Given the description of an element on the screen output the (x, y) to click on. 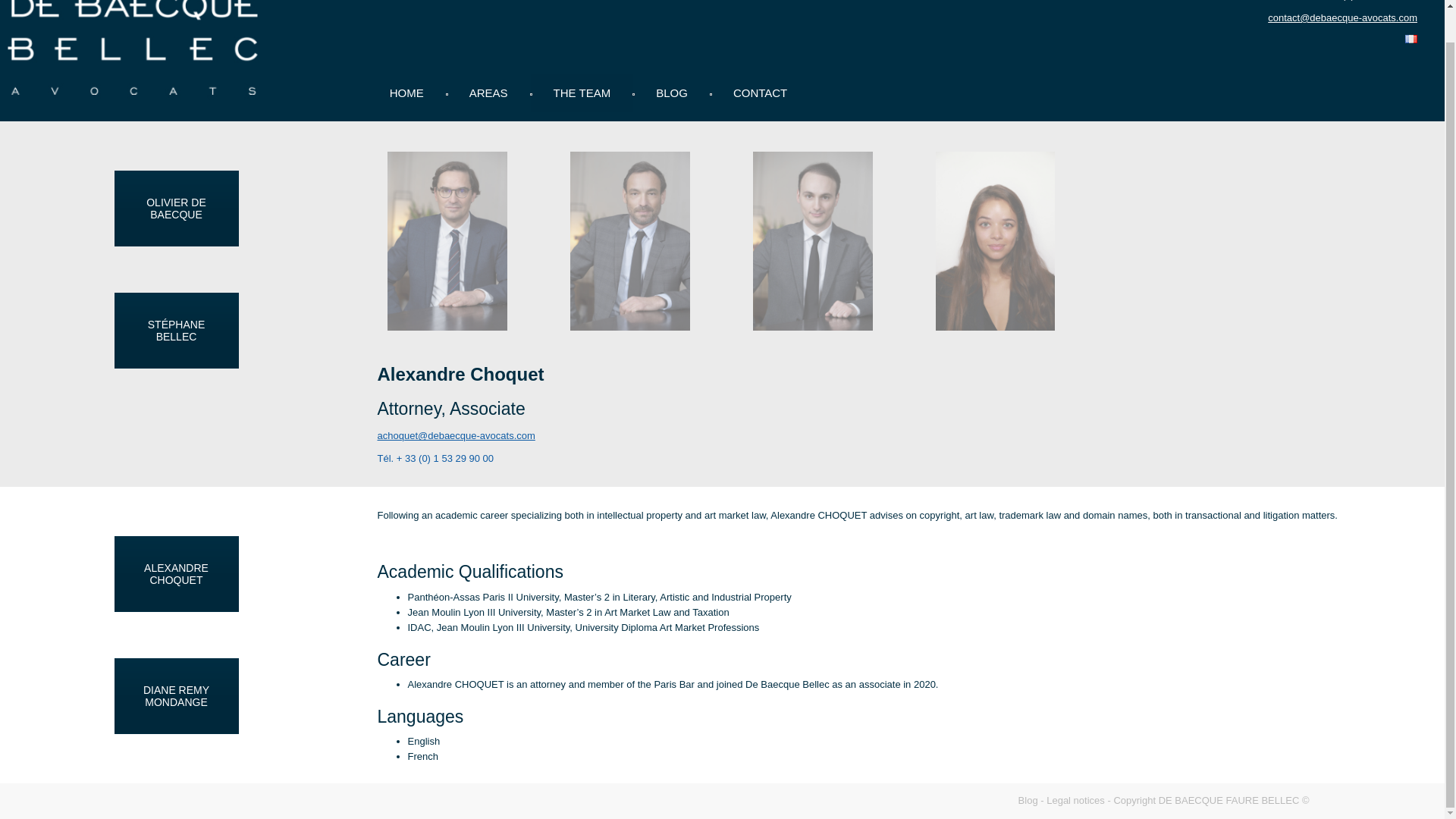
HOME (406, 93)
Diane Remy Mondange (994, 240)
CONTACT (759, 93)
Olivier DE BAECQUE (447, 240)
DIANE REMY MONDANGE (175, 695)
OLIVIER DE BAECQUE (175, 208)
Alexandre Choquet (812, 240)
THE TEAM (582, 93)
Legal notices (1075, 799)
BLOG (671, 93)
ALEXANDRE CHOQUET (175, 573)
AREAS (488, 93)
Blog (1027, 799)
Diane Remy Mondange (175, 695)
